Given the description of an element on the screen output the (x, y) to click on. 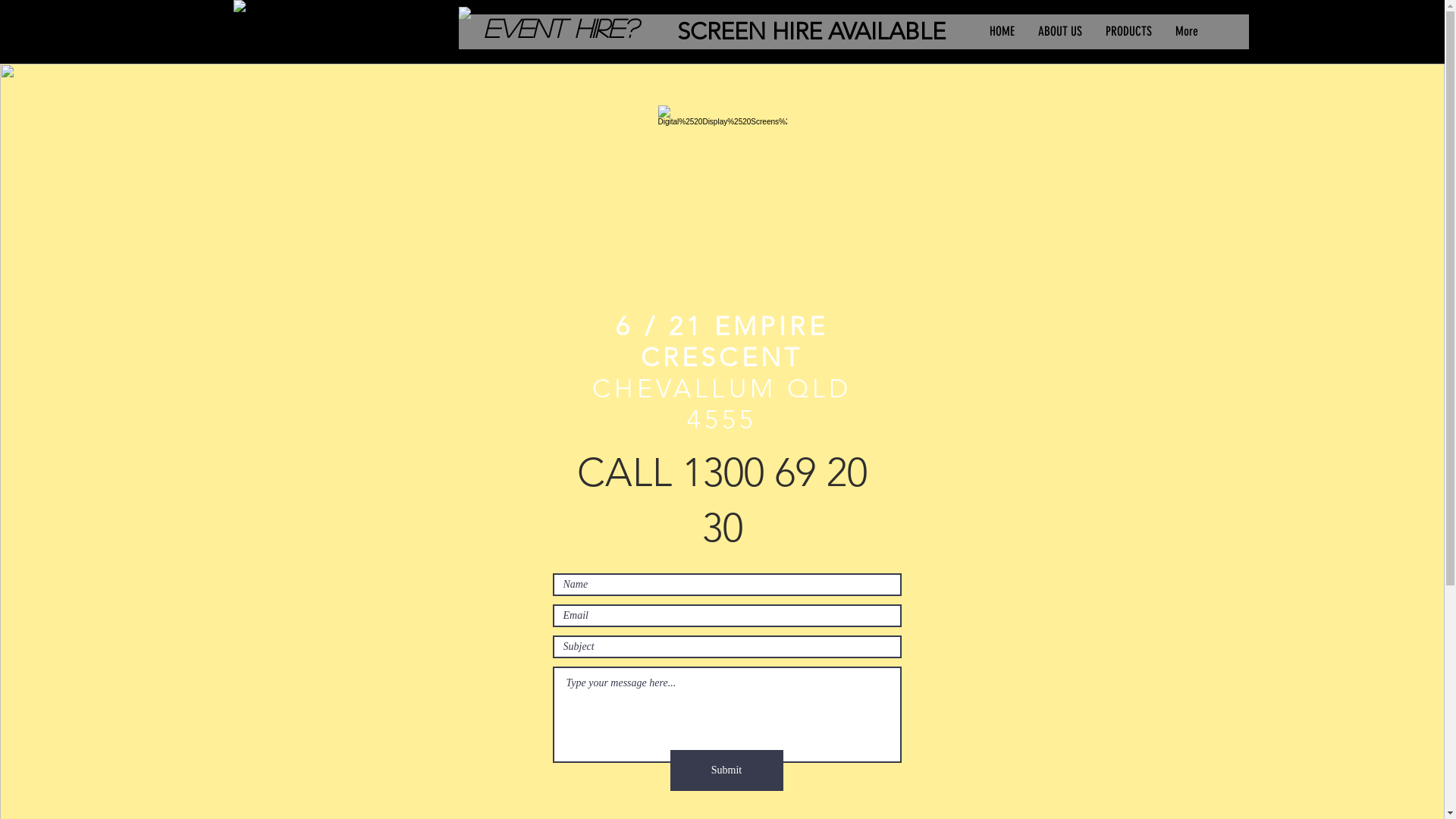
HOME Element type: text (1000, 31)
ABOUT US Element type: text (1058, 31)
PRODUCTS Element type: text (1128, 31)
Submit Element type: text (726, 769)
